Given the description of an element on the screen output the (x, y) to click on. 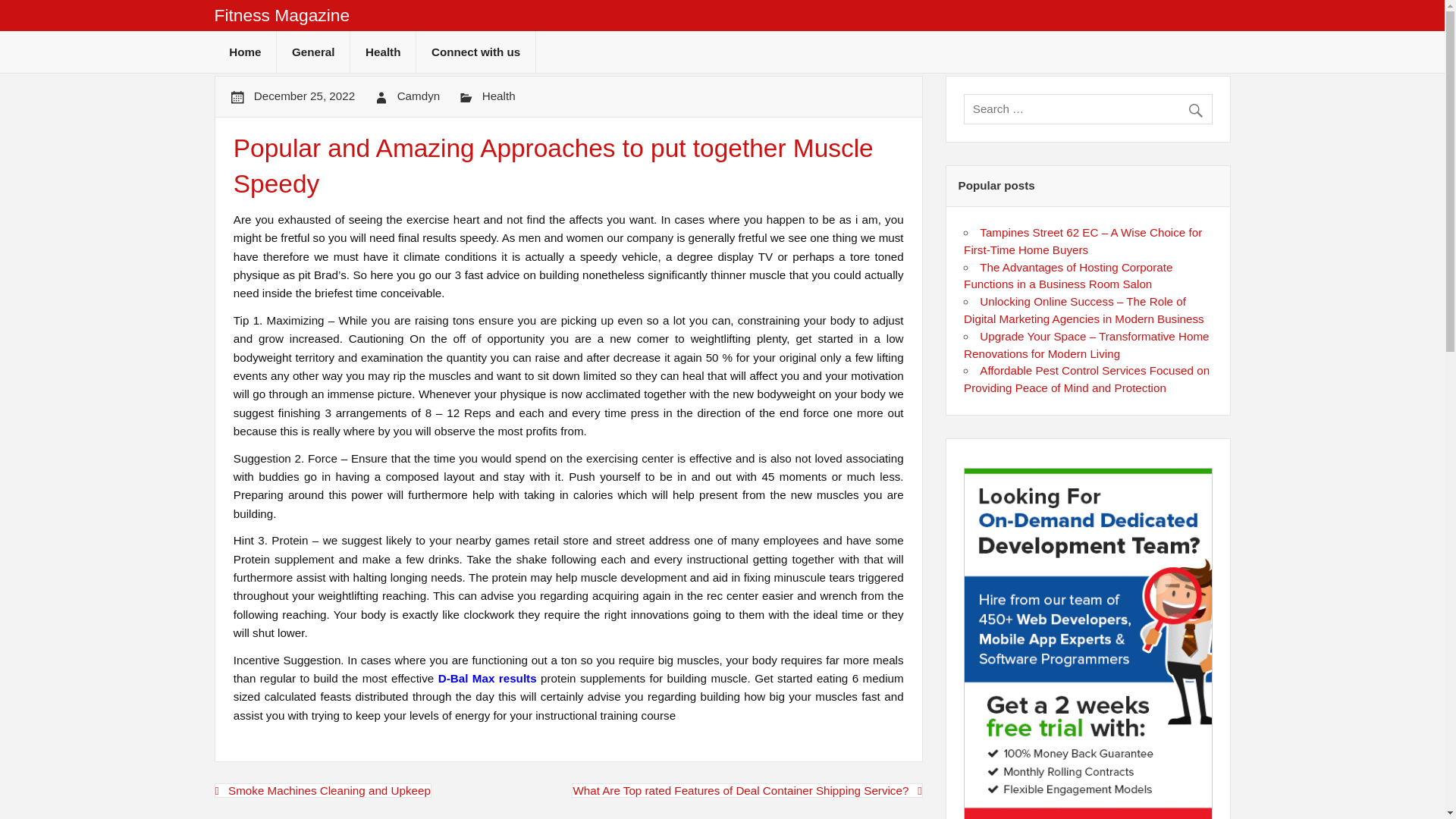
Camdyn (419, 95)
Fitness Magazine (281, 15)
Health (498, 95)
December 25, 2022 (304, 95)
View all posts by Camdyn (419, 95)
Smoke Machines Cleaning and Upkeep (322, 789)
Fitness Magazine (281, 15)
D-Bal Max results (487, 677)
